Given the description of an element on the screen output the (x, y) to click on. 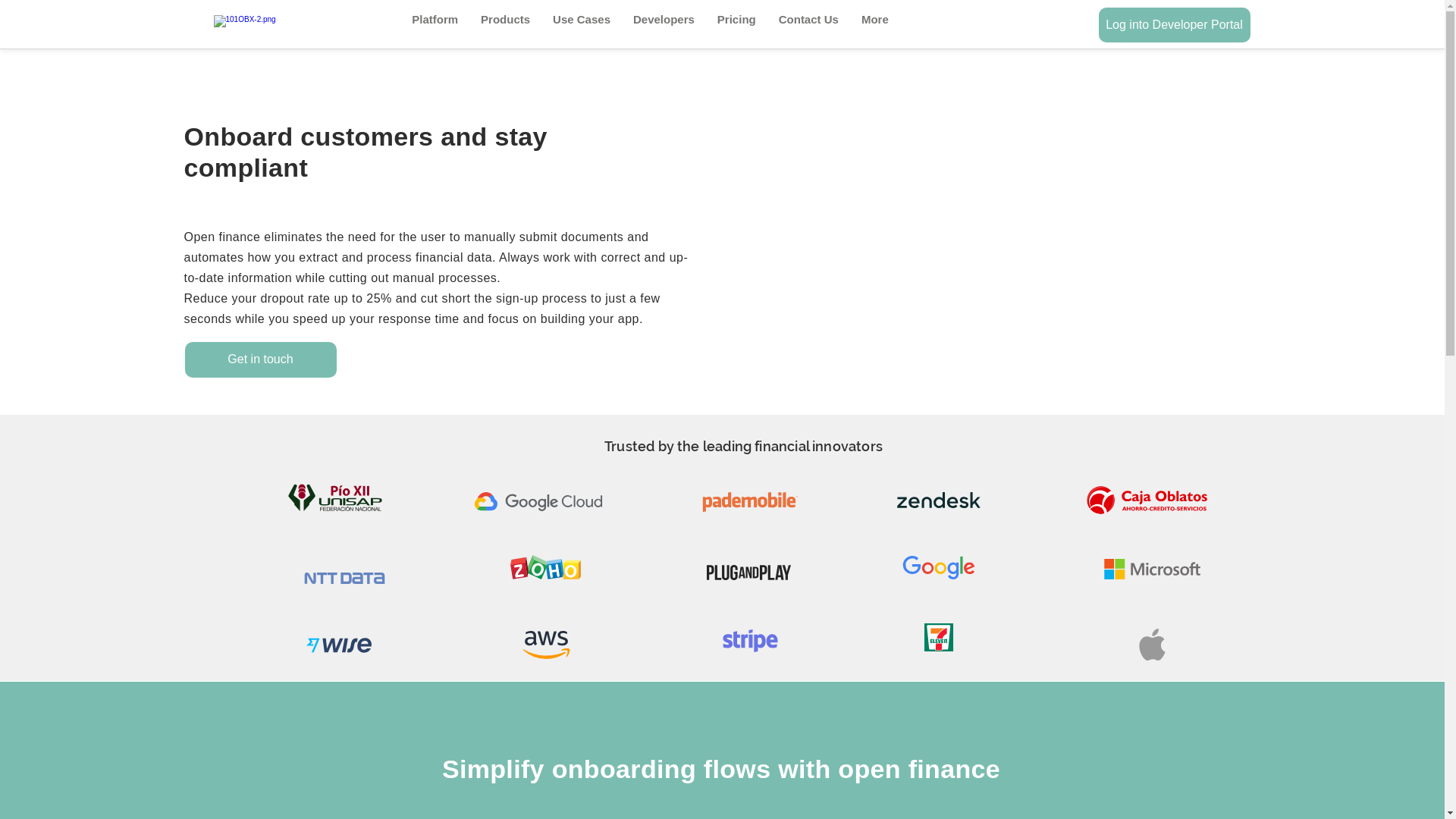
Contact Us Element type: text (808, 22)
Platform Element type: text (434, 22)
Get in touch Element type: text (260, 359)
Use Cases Element type: text (581, 22)
Developers Element type: text (663, 22)
Pricing Element type: text (736, 22)
Log into Developer Portal Element type: text (1173, 24)
Products Element type: text (505, 22)
